Given the description of an element on the screen output the (x, y) to click on. 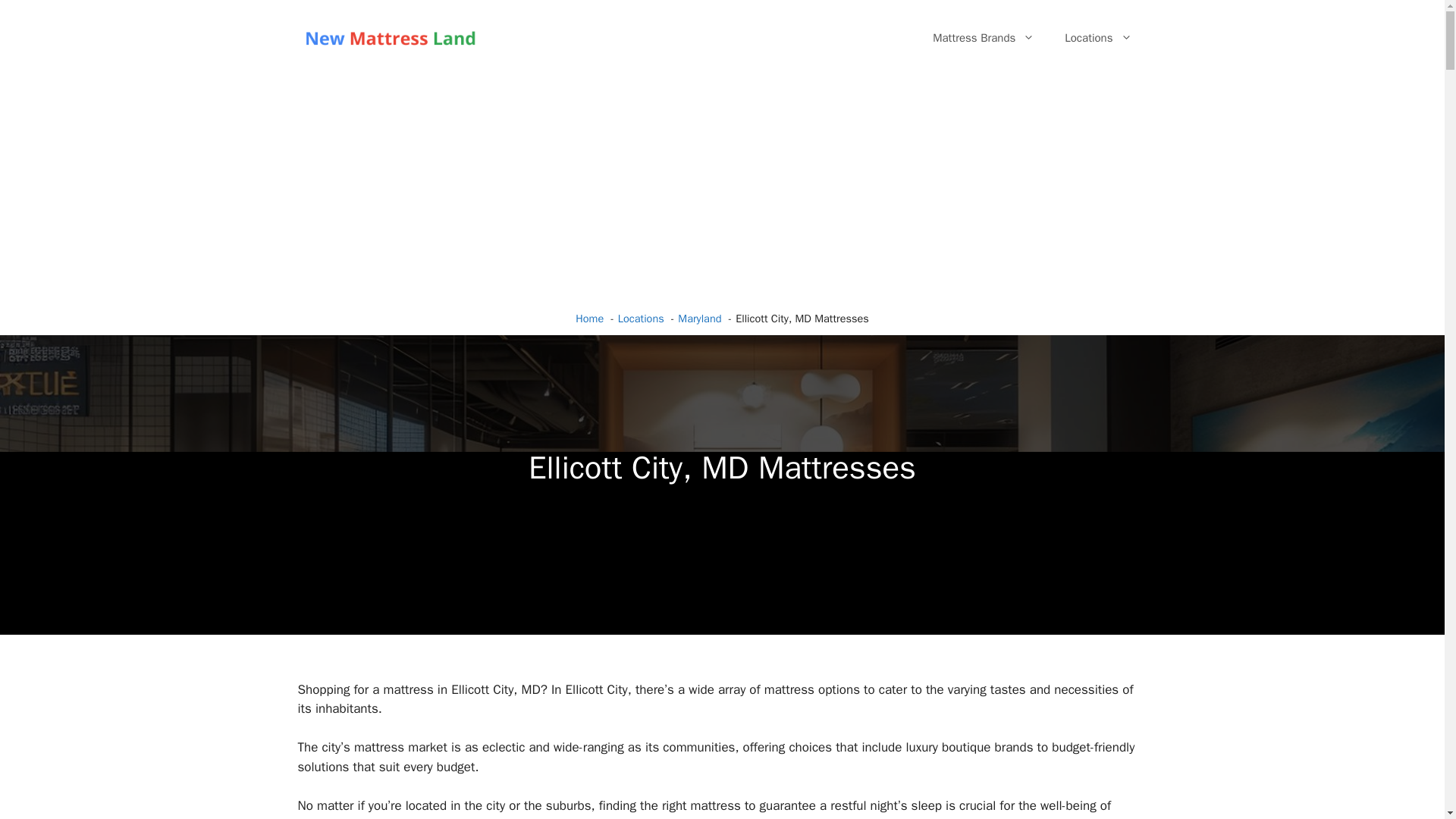
Mattress Brands (983, 37)
Home (589, 318)
Locations (1098, 37)
